Given the description of an element on the screen output the (x, y) to click on. 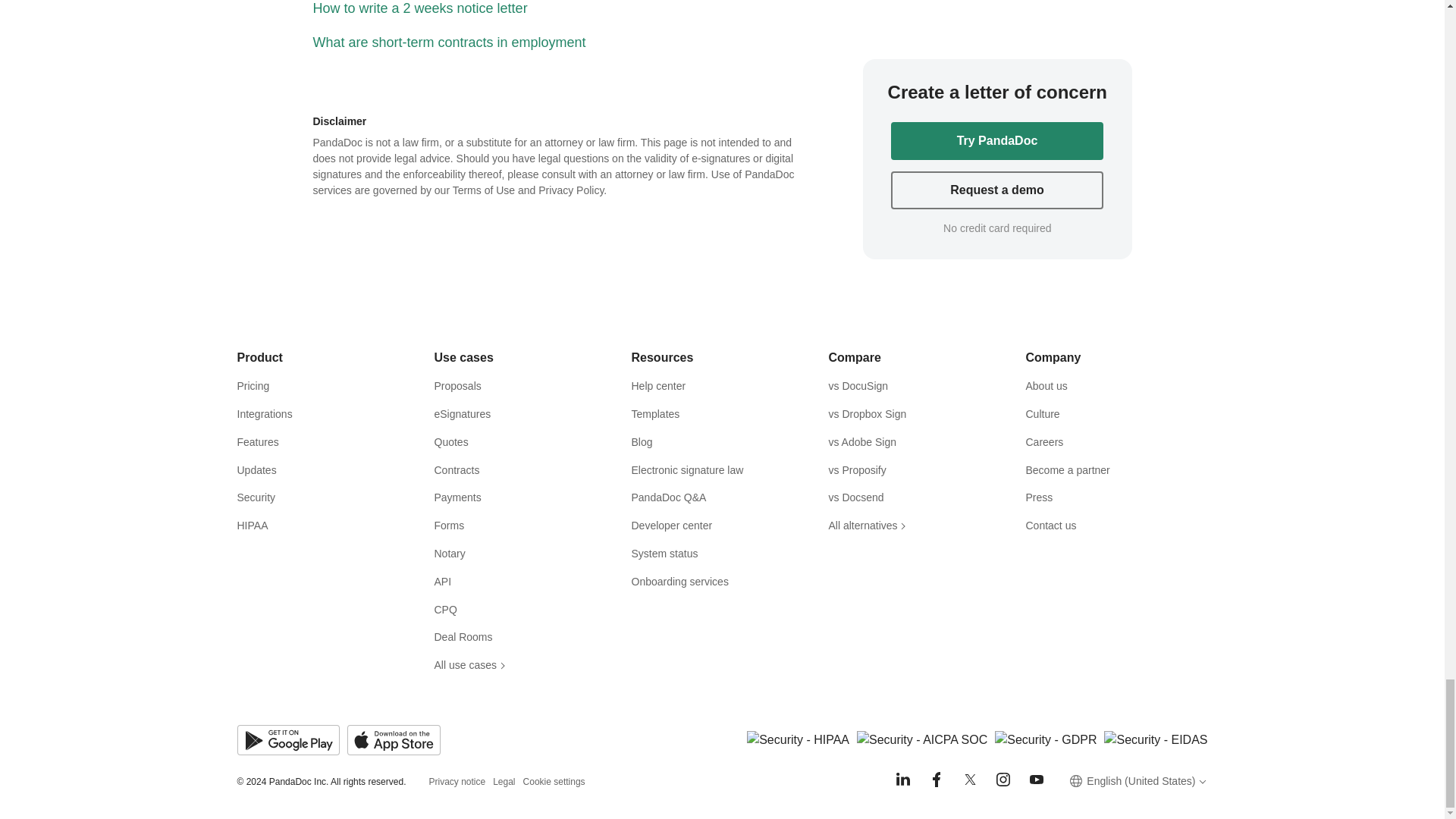
Twitter (969, 779)
LinkedIn (902, 779)
Facebook (935, 779)
Instagram (1002, 779)
Youtube (1036, 779)
